Given the description of an element on the screen output the (x, y) to click on. 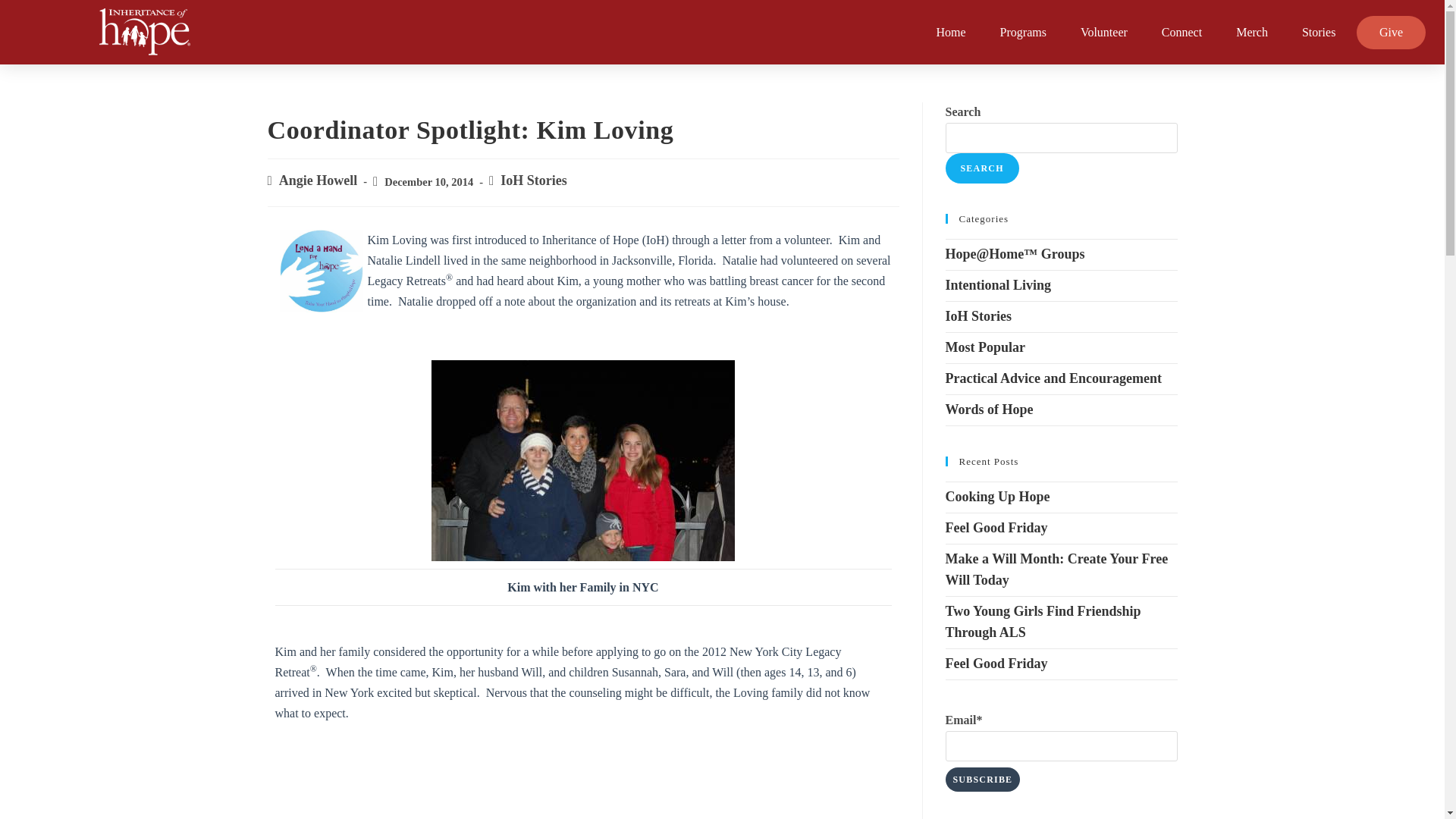
Posts by Angie Howell (318, 180)
Programs (1023, 32)
Click here to see how! (320, 271)
Connect (1181, 32)
Volunteer (1103, 32)
Subscribe (982, 779)
Kim with her Family in NYC (582, 460)
Give (1390, 31)
